Given the description of an element on the screen output the (x, y) to click on. 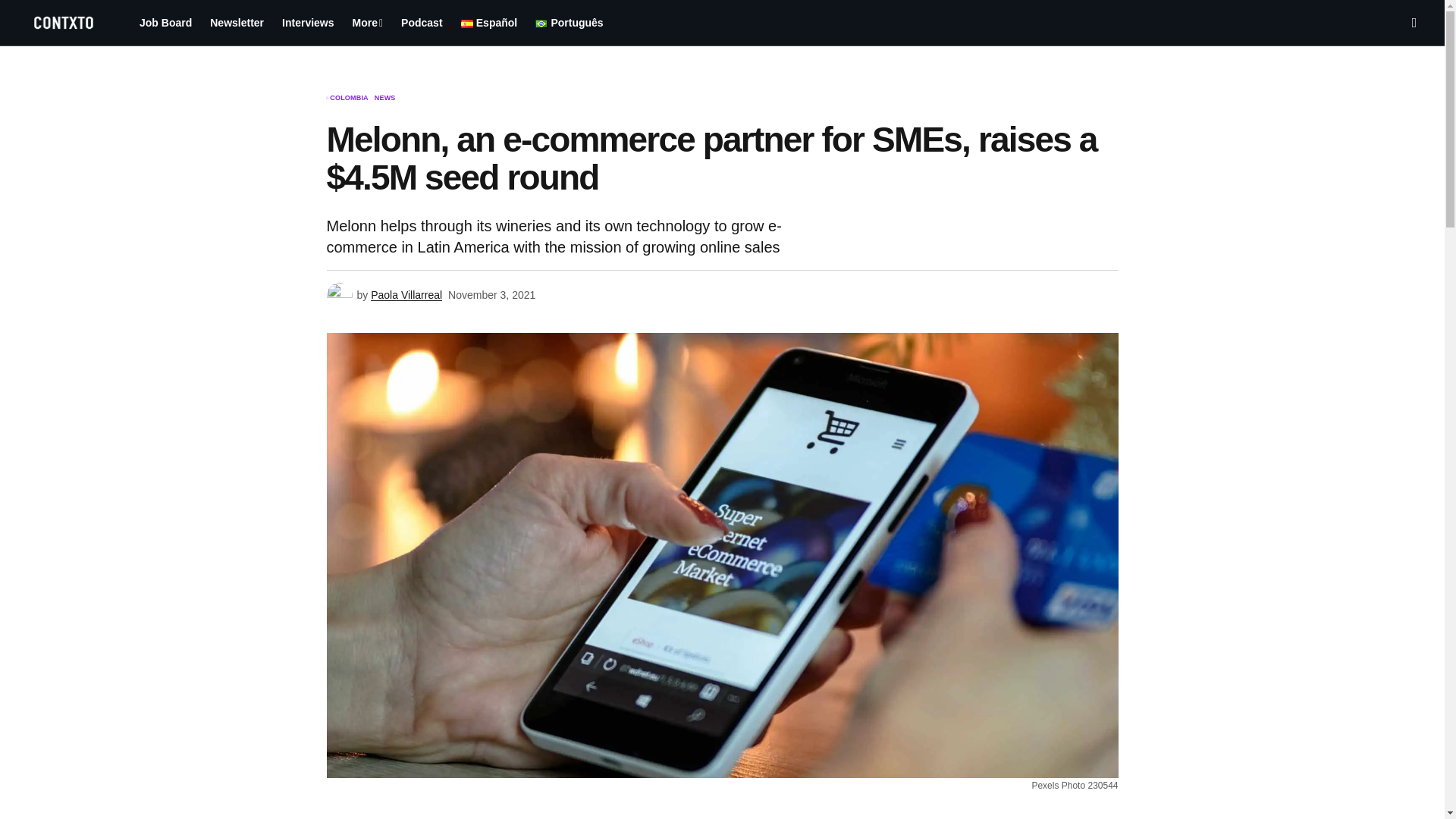
Podcast (421, 22)
Paola Villarreal (406, 295)
Job Board (165, 22)
COLOMBIA (349, 98)
Newsletter (236, 22)
Interviews (307, 22)
NEWS (385, 98)
More (368, 22)
